Given the description of an element on the screen output the (x, y) to click on. 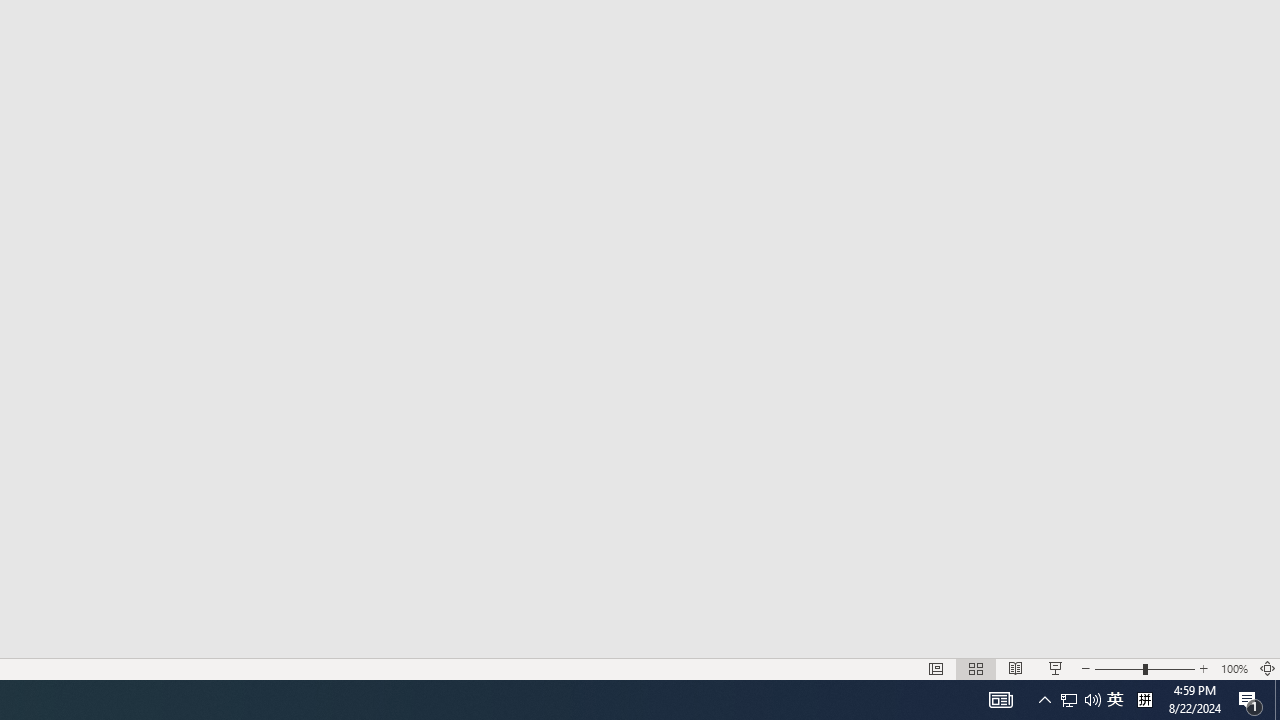
Action Center, 1 new notification (1250, 699)
